Given the description of an element on the screen output the (x, y) to click on. 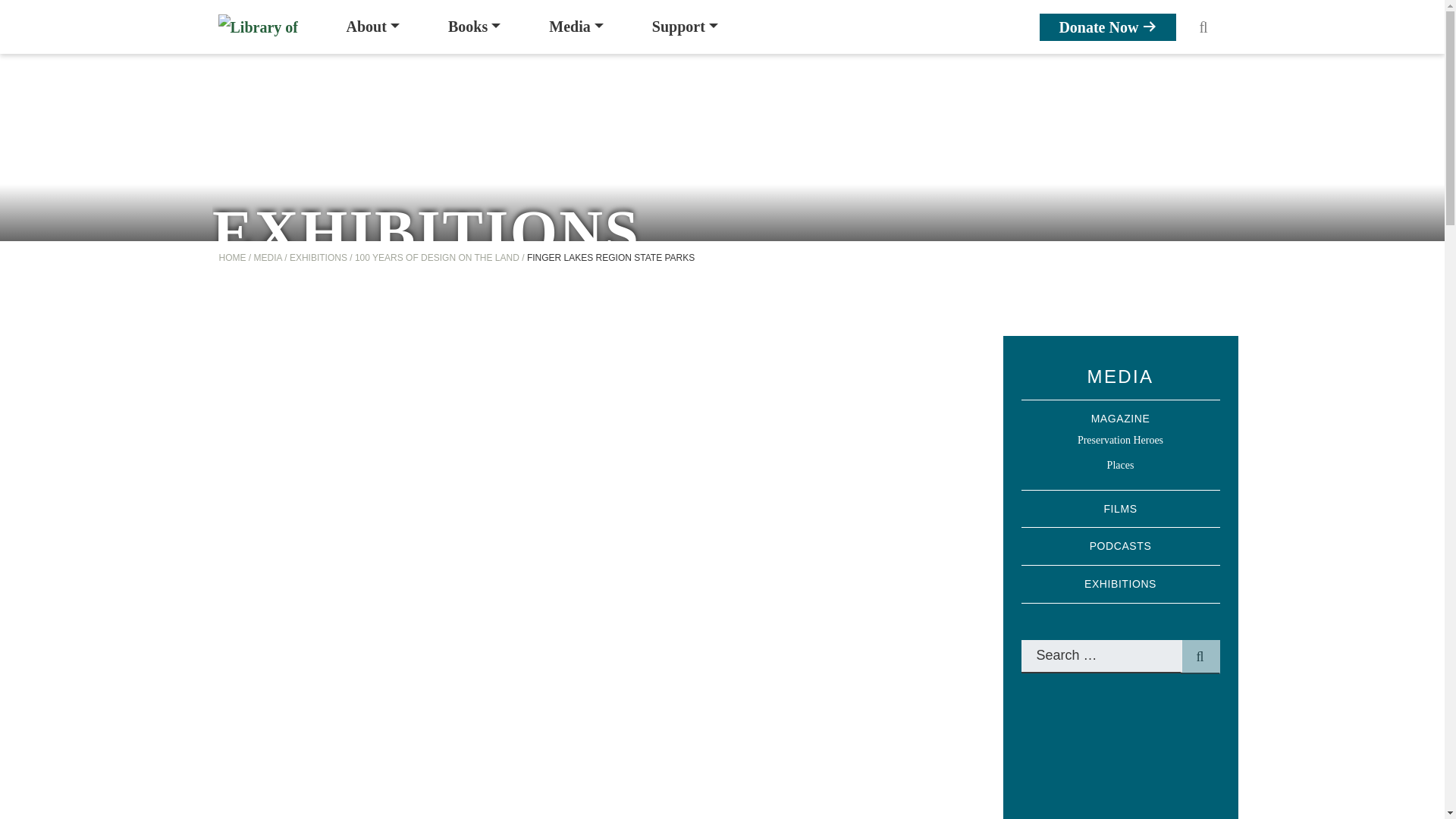
EXHIBITIONS (318, 256)
Books (473, 26)
Support (684, 26)
100 YEARS OF DESIGN ON THE LAND (437, 256)
HOME (232, 256)
Media (575, 26)
Click to access Search Form (1202, 26)
About (372, 26)
Books (473, 26)
Support (684, 26)
About (372, 26)
MEDIA (267, 256)
Media (575, 26)
Donate Now (1107, 26)
